Given the description of an element on the screen output the (x, y) to click on. 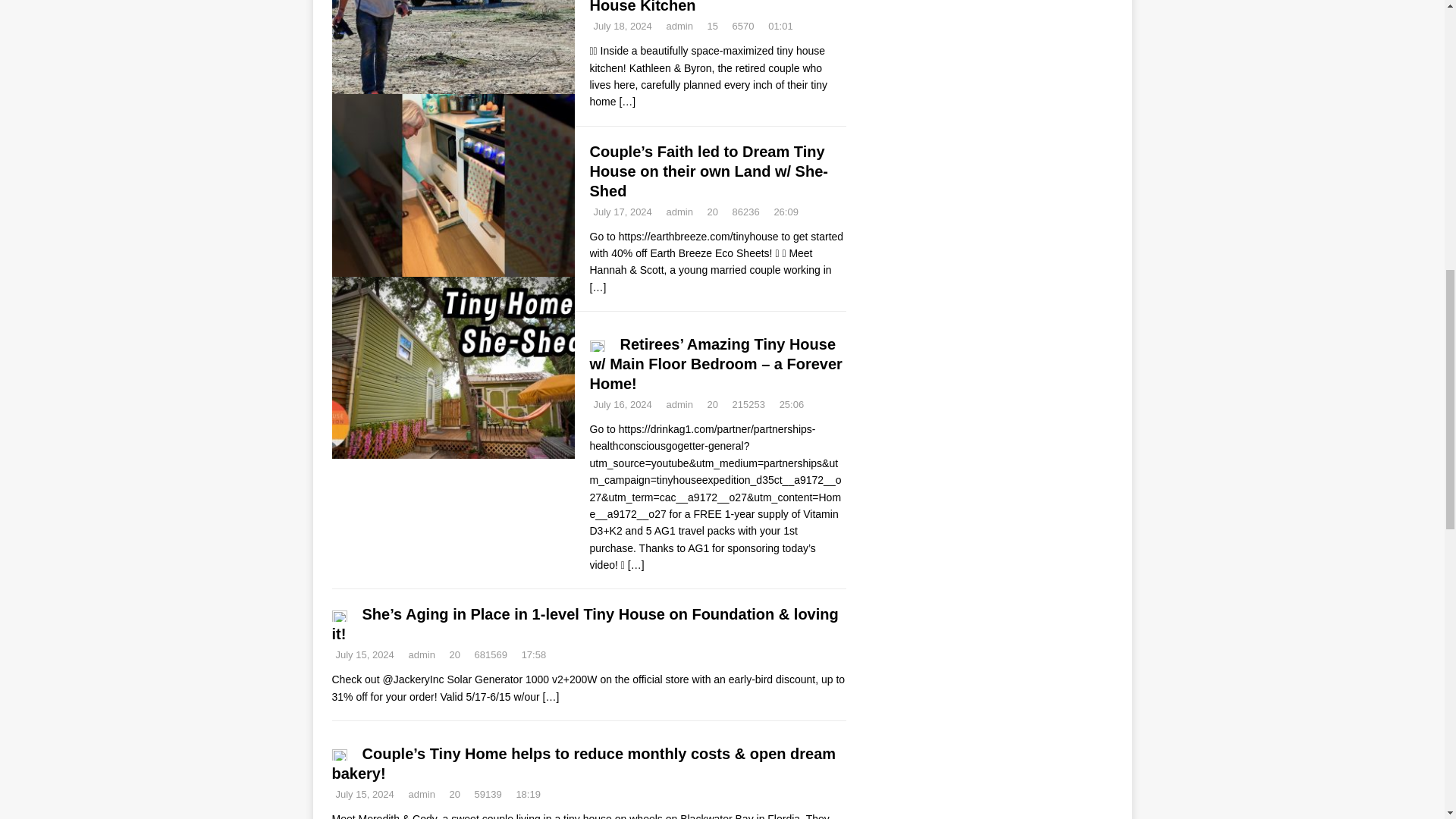
admin (679, 25)
20 (712, 404)
admin (420, 654)
Beautifully Space Maximized Tiny House Kitchen (626, 101)
admin (679, 404)
15 (712, 25)
20 (454, 654)
admin (679, 211)
Beautifully Space Maximized Tiny House Kitchen (710, 6)
20 (712, 211)
